Given the description of an element on the screen output the (x, y) to click on. 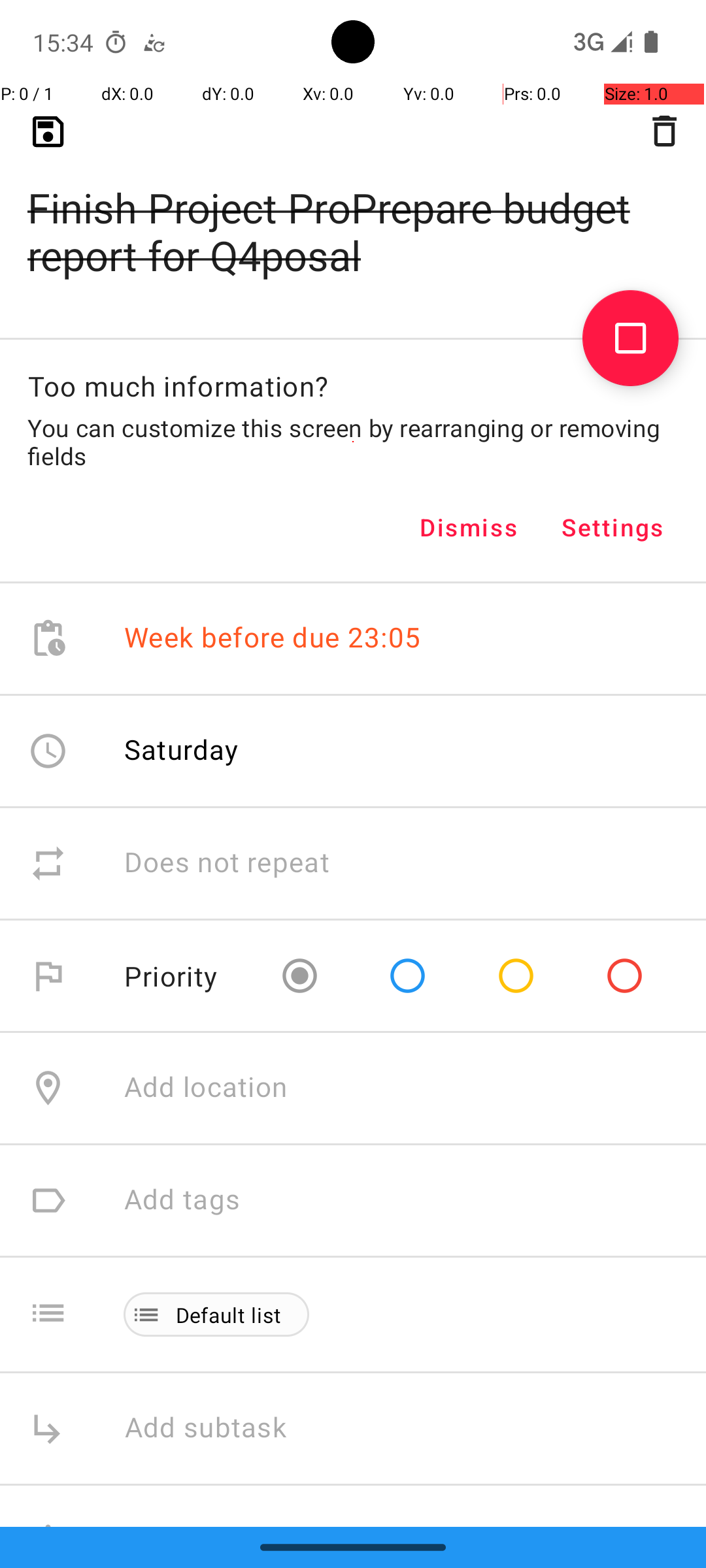
Finish Project ProPrepare budget report for Q4posal Element type: android.widget.EditText (353, 210)
Saturday Element type: android.widget.TextView (181, 748)
Week before due 23:05 Element type: android.widget.TextView (272, 638)
